Given the description of an element on the screen output the (x, y) to click on. 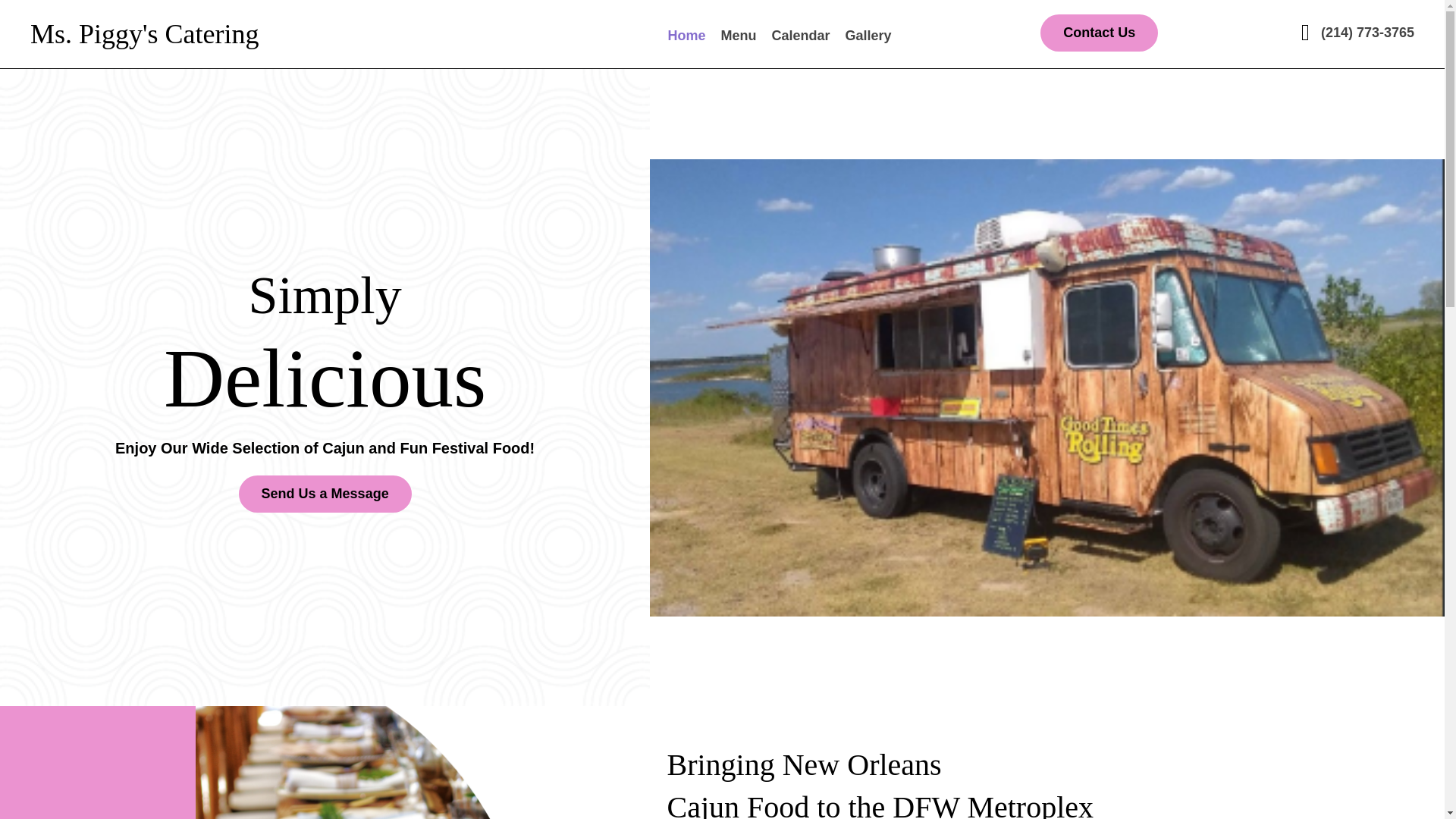
Home (687, 35)
Ms. Piggy's Catering (144, 33)
Menu (738, 35)
Ms. Piggy's Catering (144, 33)
Contact Us (1099, 32)
Gallery (868, 35)
Calendar (801, 35)
